Given the description of an element on the screen output the (x, y) to click on. 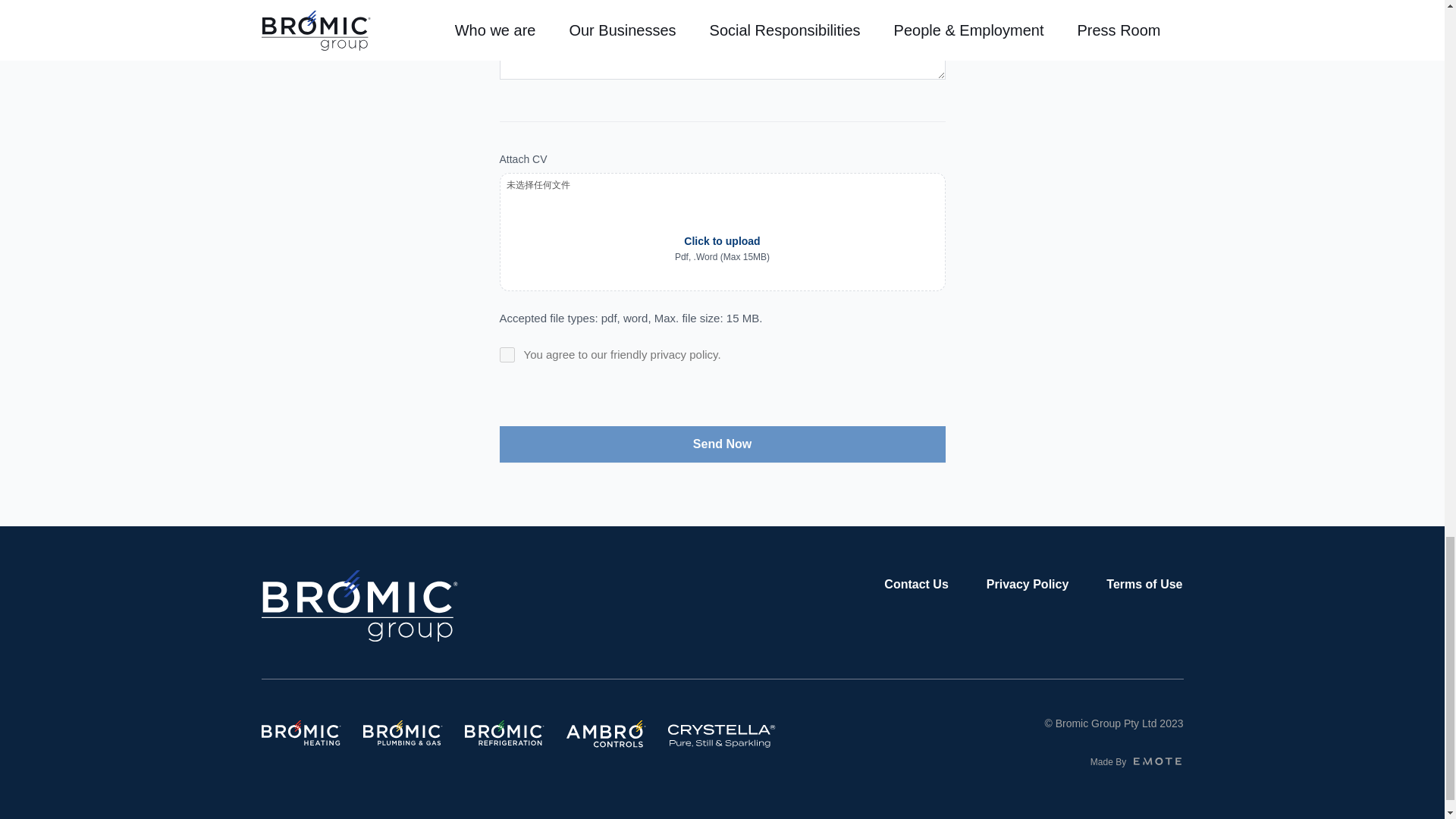
Send Now (721, 443)
Terms of Use (1144, 584)
Send Now (721, 443)
You agree to our friendly privacy policy. (506, 354)
Privacy Policy (1027, 584)
Contact Us (915, 584)
